Given the description of an element on the screen output the (x, y) to click on. 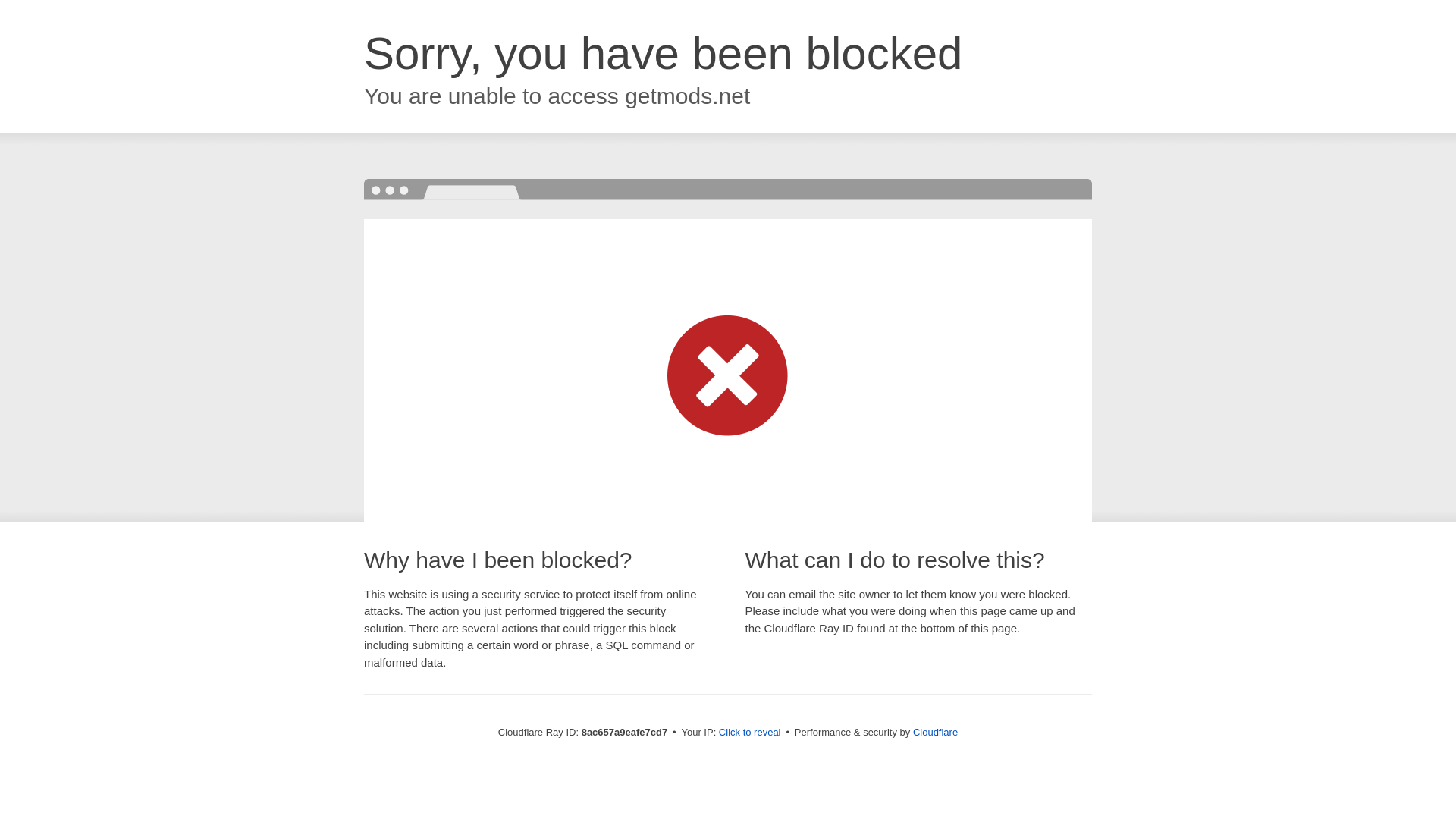
Cloudflare (935, 731)
Click to reveal (749, 732)
